Given the description of an element on the screen output the (x, y) to click on. 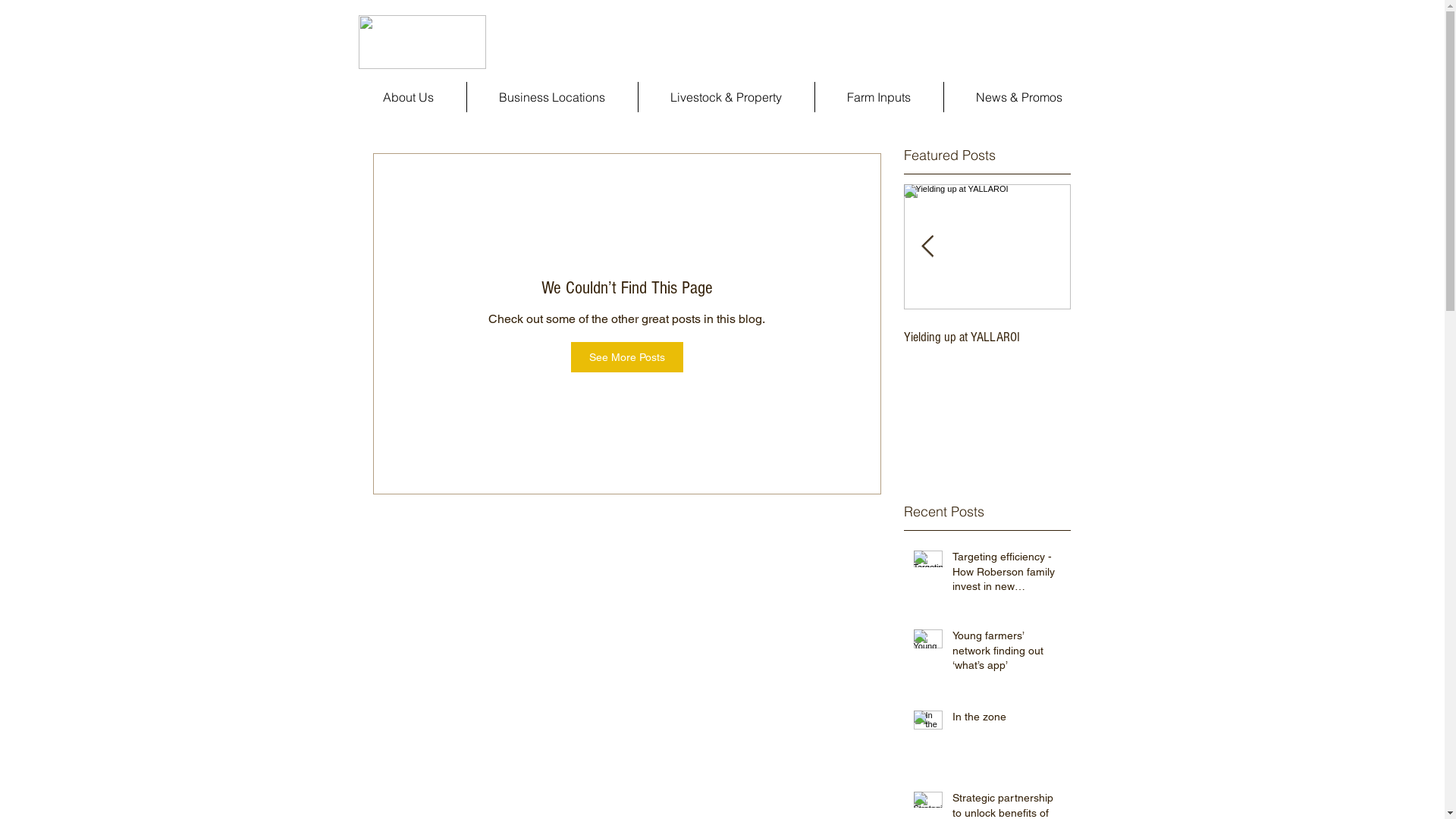
In the zone Element type: text (1006, 720)
Business Locations Element type: text (552, 96)
Livestock & Property Element type: text (726, 96)
About Us Element type: text (407, 96)
Yielding up at YALLAROI Element type: text (986, 337)
Digital innovation new focus of research investment Element type: text (820, 344)
In the zone Element type: text (653, 337)
Farm Inputs Element type: text (878, 96)
See More Posts Element type: text (626, 357)
